Given the description of an element on the screen output the (x, y) to click on. 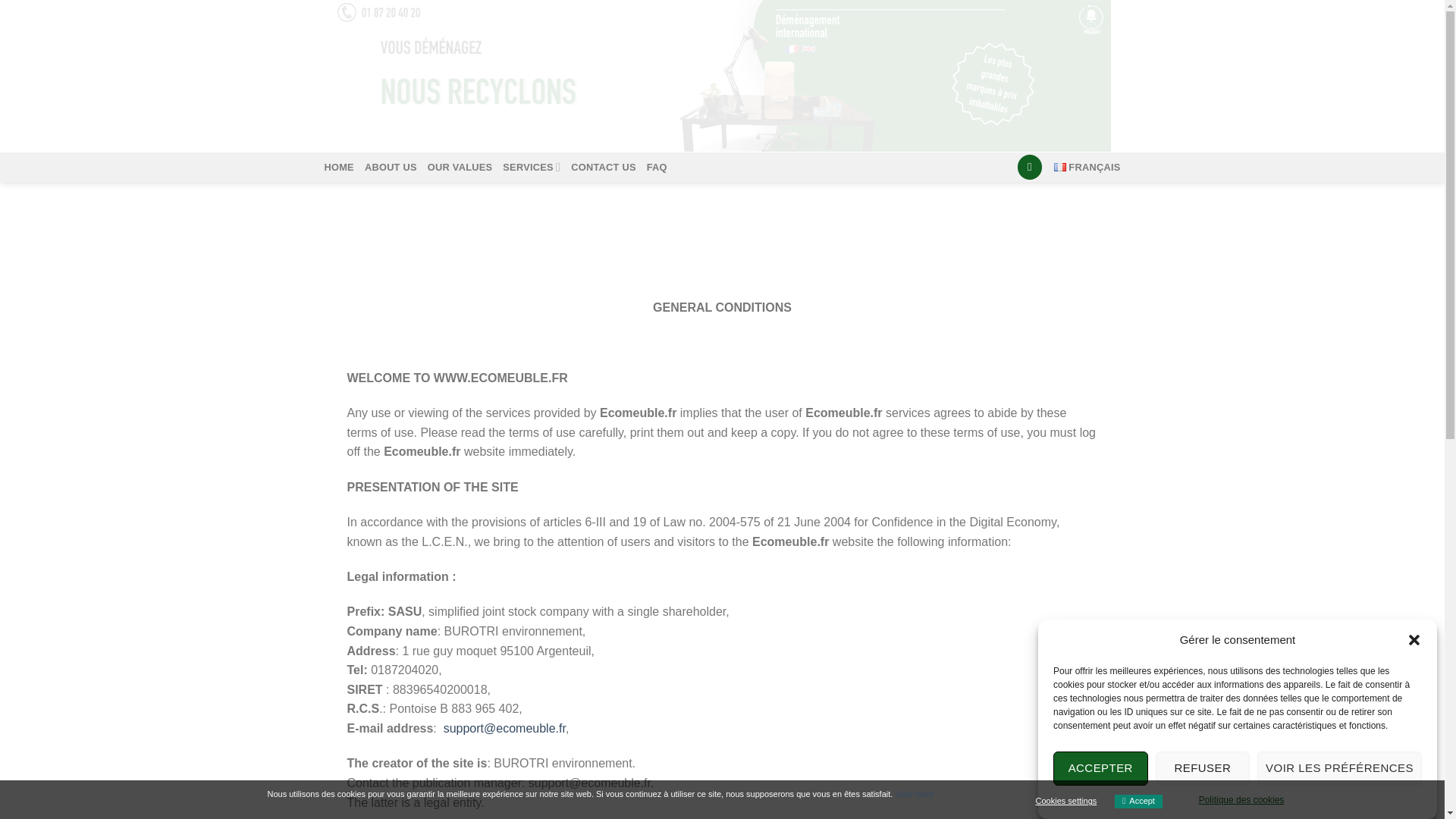
SERVICES (531, 166)
CONTACT US (603, 166)
ABOUT US (390, 166)
Politique des cookies (1241, 818)
OUR VALUES (460, 166)
HOME (338, 166)
